Given the description of an element on the screen output the (x, y) to click on. 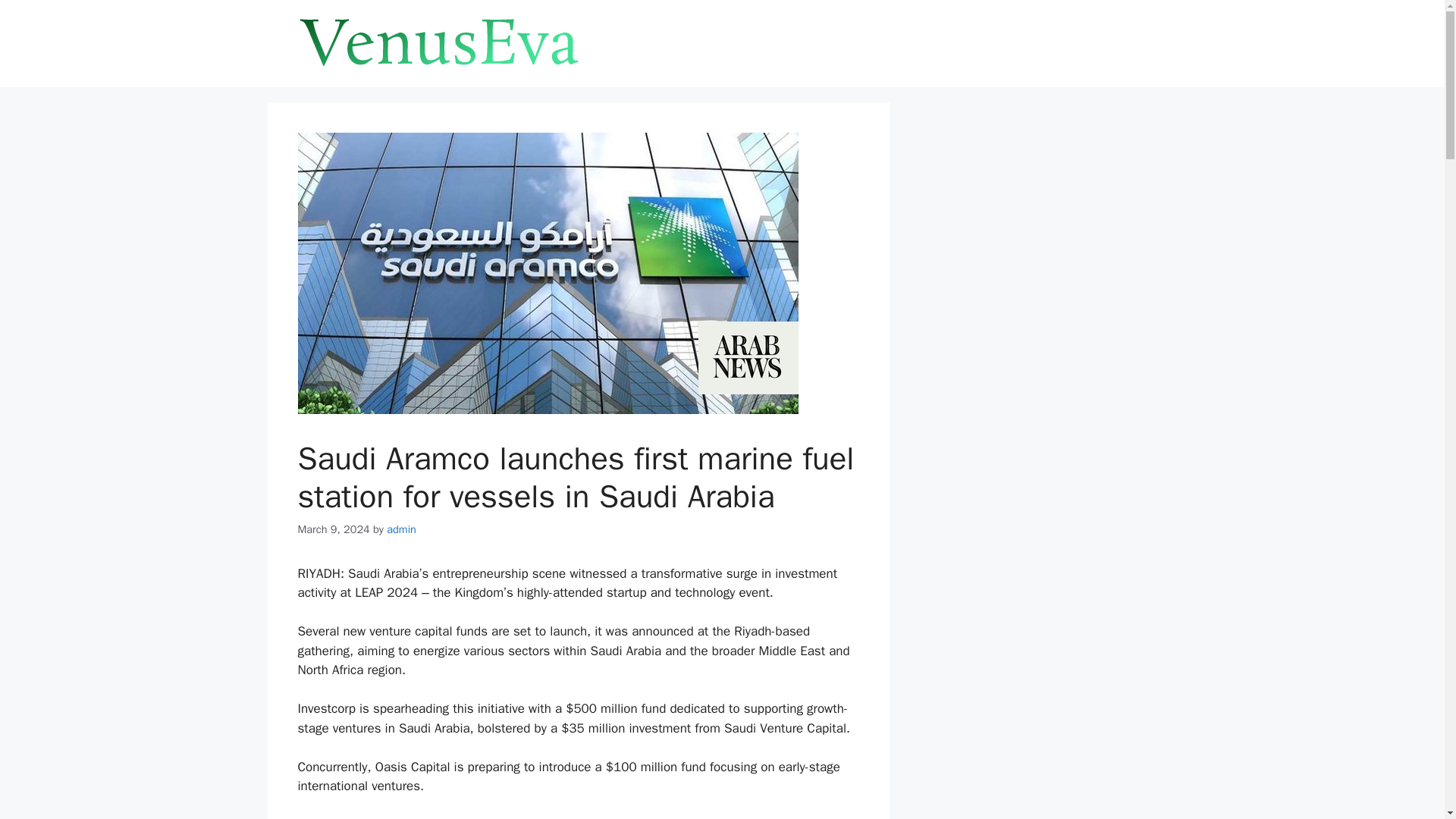
View all posts by admin (401, 529)
admin (401, 529)
